Given the description of an element on the screen output the (x, y) to click on. 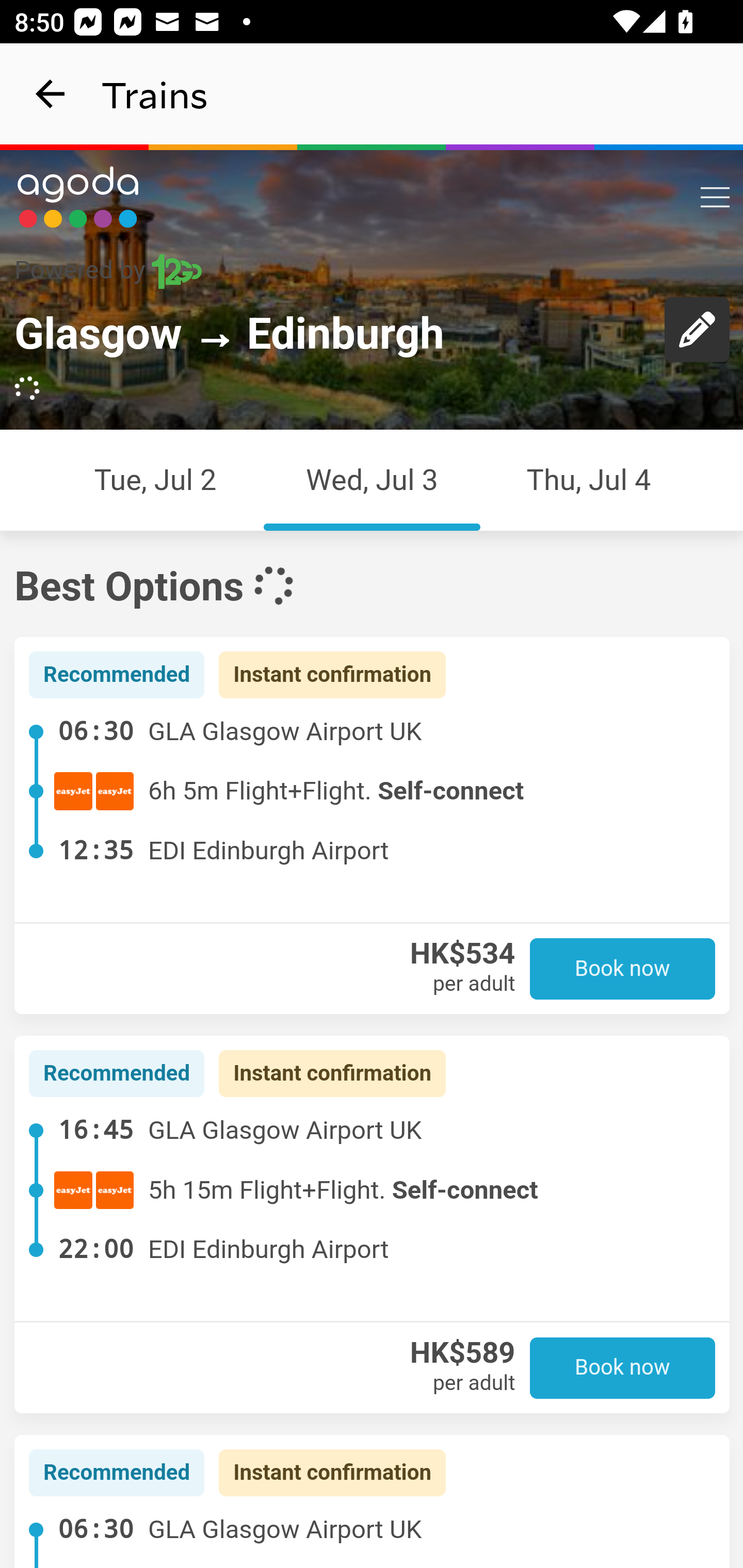
navigation_button (50, 93)
Link to main page 5418 (78, 197)
Tue, Jul 2 (154, 478)
Wed, Jul 3 (371, 478)
Thu, Jul 4 (589, 478)
Book now (622, 968)
Book now (622, 1366)
